Given the description of an element on the screen output the (x, y) to click on. 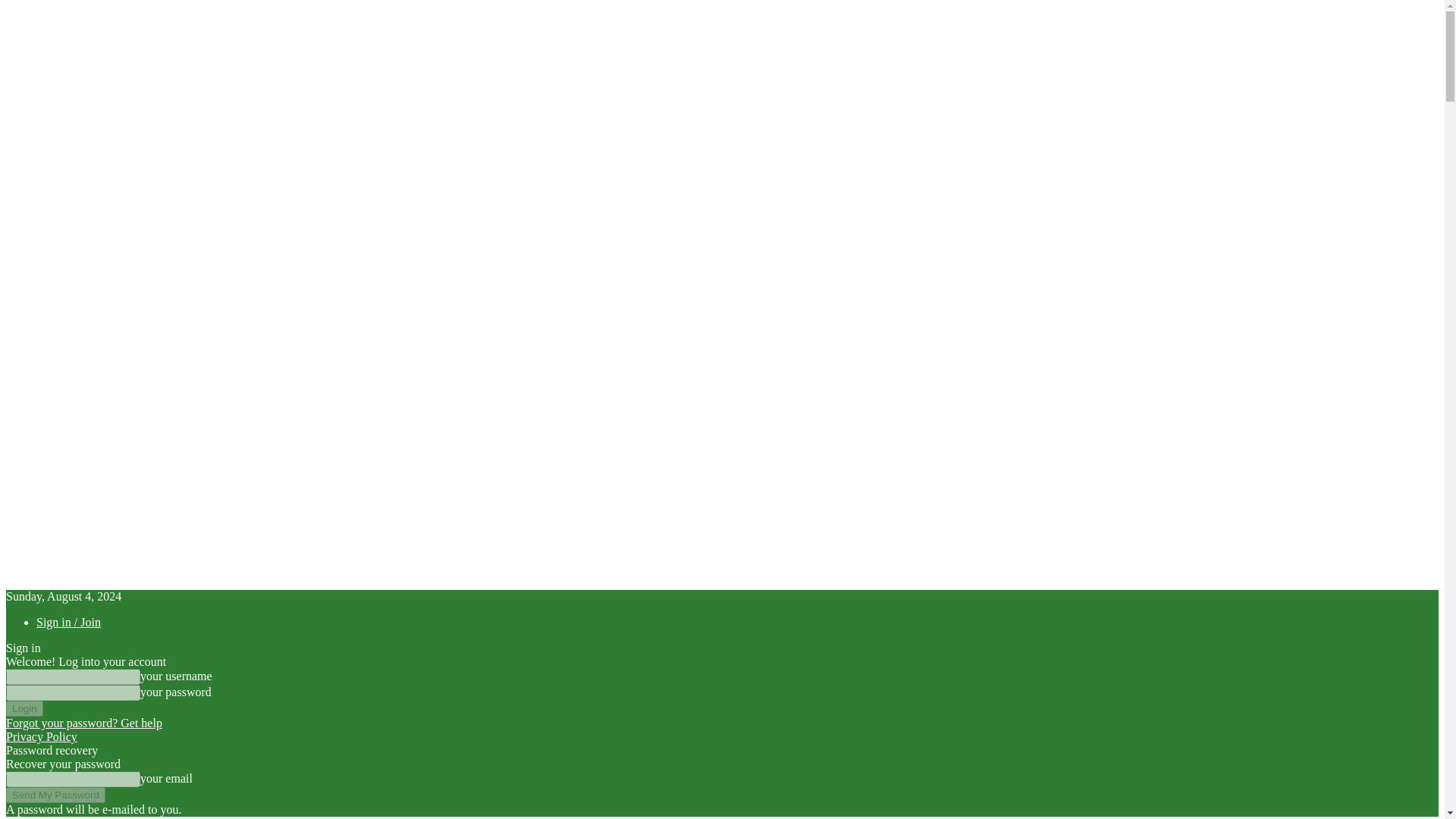
Privacy Policy (41, 736)
Forgot your password? Get help (83, 722)
Login (24, 708)
Send My Password (54, 795)
